Given the description of an element on the screen output the (x, y) to click on. 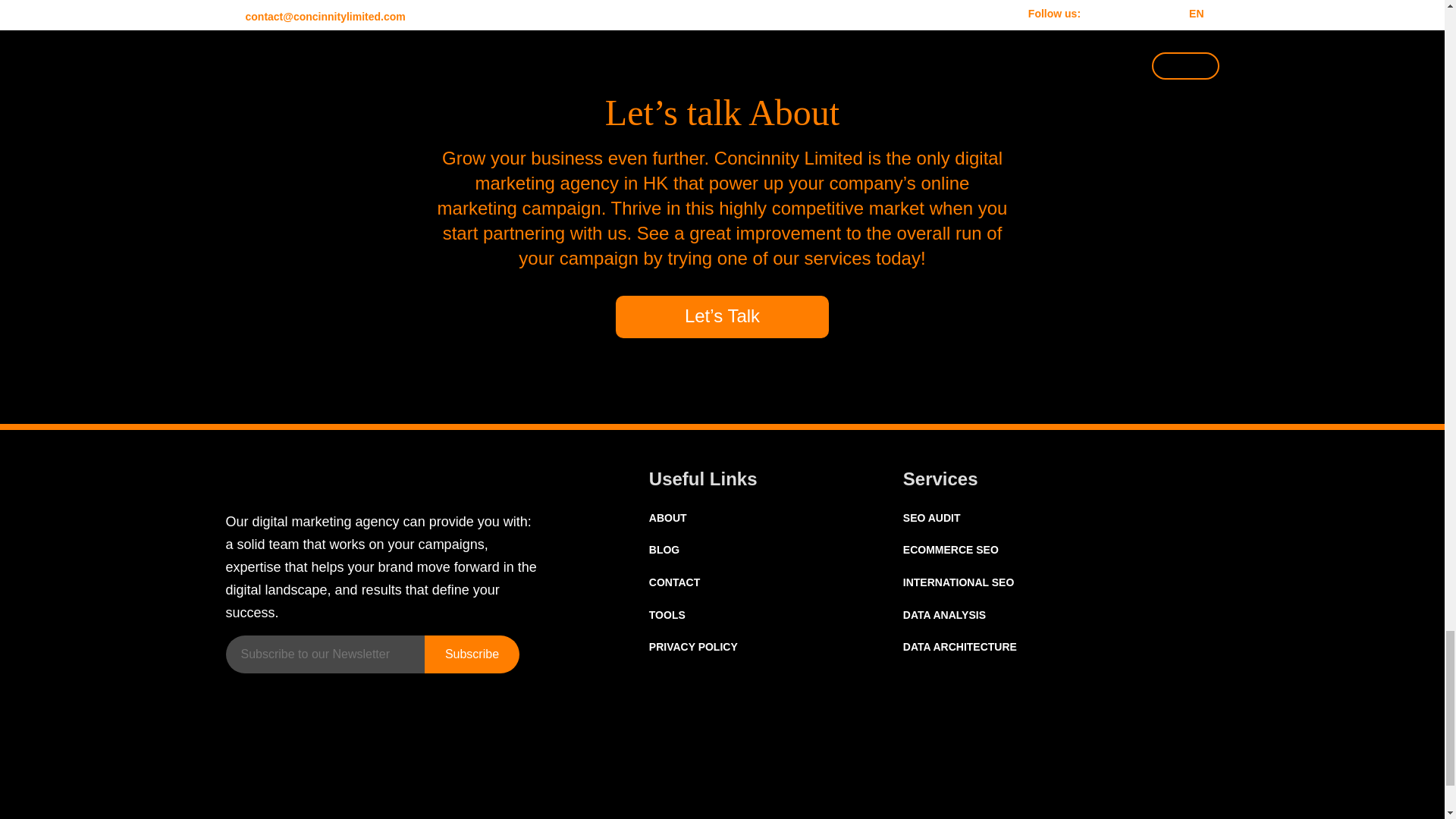
Subscribe (472, 654)
Subscribe (472, 654)
